Given the description of an element on the screen output the (x, y) to click on. 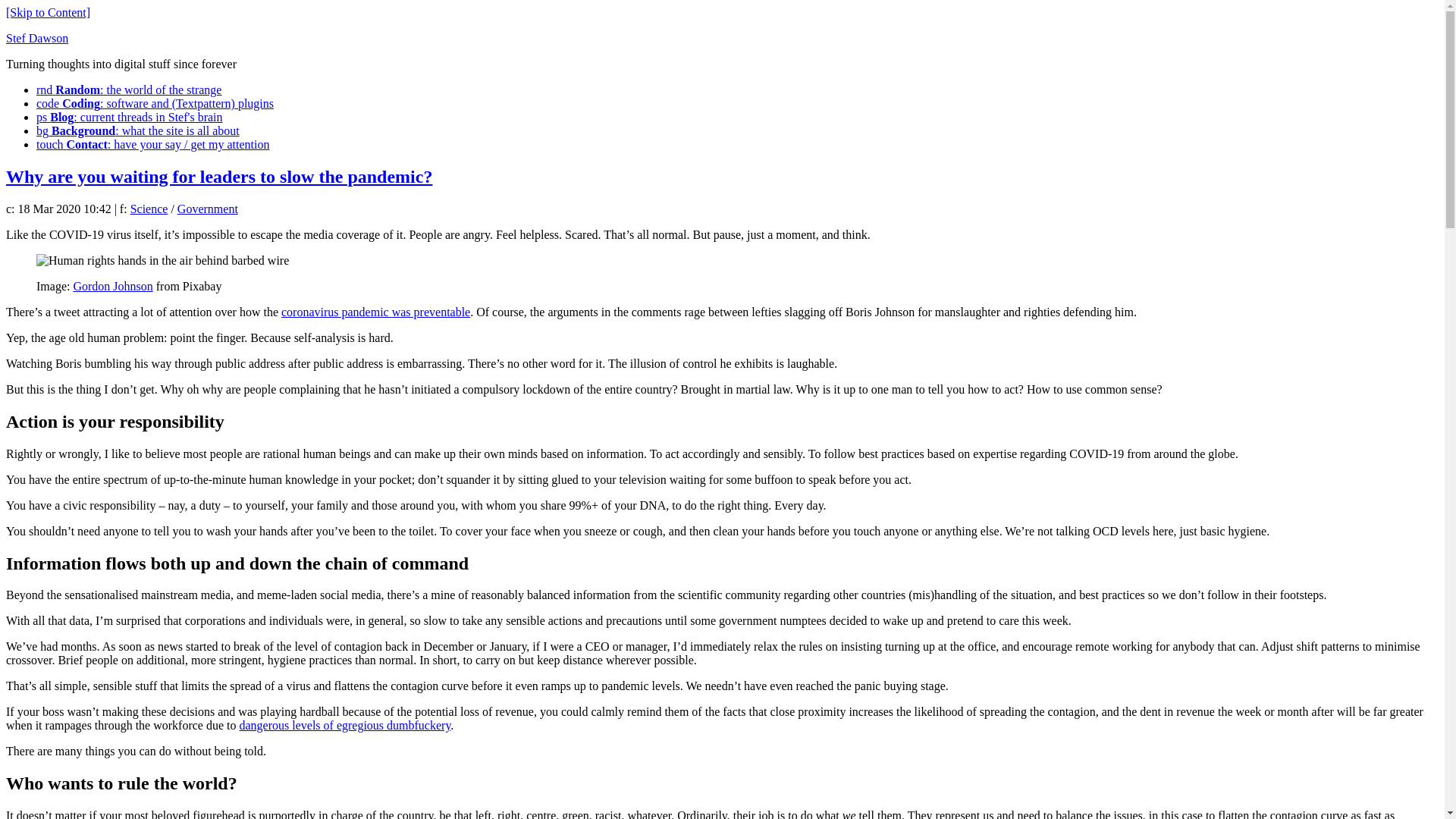
Stef Dawson (36, 38)
Science (149, 208)
Gordon Johnson (112, 286)
coronavirus pandemic was preventable (375, 311)
ps Blog: current threads in Stef's brain (129, 116)
bg Background: what the site is all about (138, 130)
rnd Random: the world of the strange (128, 89)
Government (207, 208)
dangerous levels of egregious dumbfuckery (343, 725)
Why are you waiting for leaders to slow the pandemic? (218, 176)
